Given the description of an element on the screen output the (x, y) to click on. 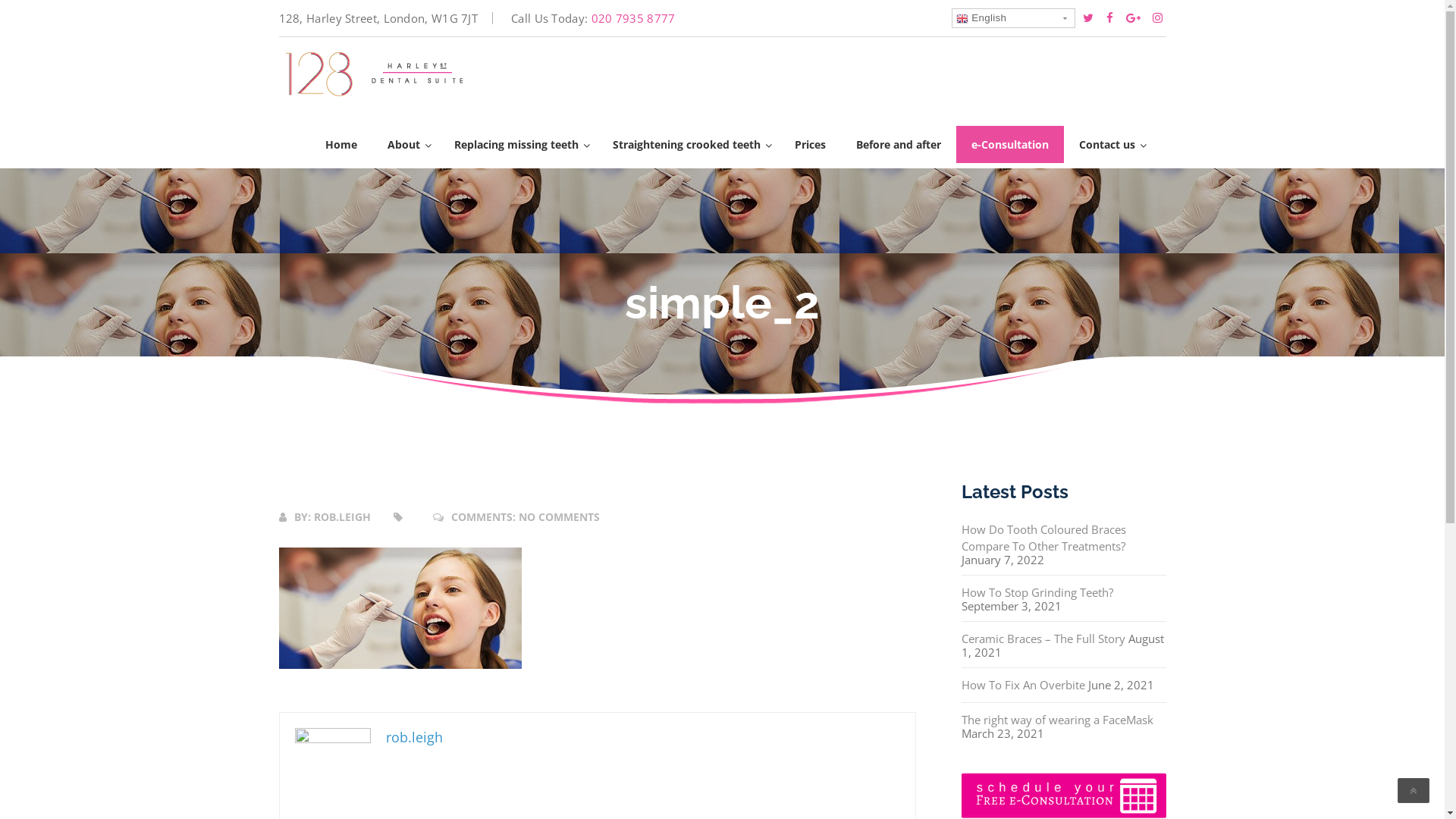
English Element type: text (1013, 17)
Home Element type: text (340, 144)
e-Consultation Element type: text (1009, 144)
How To Fix An Overbite Element type: text (1023, 684)
The right way of wearing a FaceMask Element type: text (1057, 719)
How Do Tooth Coloured Braces Compare To Other Treatments? Element type: text (1043, 537)
About Element type: text (404, 144)
How To Stop Grinding Teeth? Element type: text (1037, 591)
Before and after Element type: text (897, 144)
Contact us Element type: text (1108, 144)
rob.leigh Element type: text (413, 737)
Prices Element type: text (809, 144)
ROB.LEIGH Element type: text (341, 516)
Replacing missing teeth Element type: text (517, 144)
Straightening crooked teeth Element type: text (688, 144)
NO COMMENTS Element type: text (558, 516)
020 7935 8777 Element type: text (633, 17)
